Given the description of an element on the screen output the (x, y) to click on. 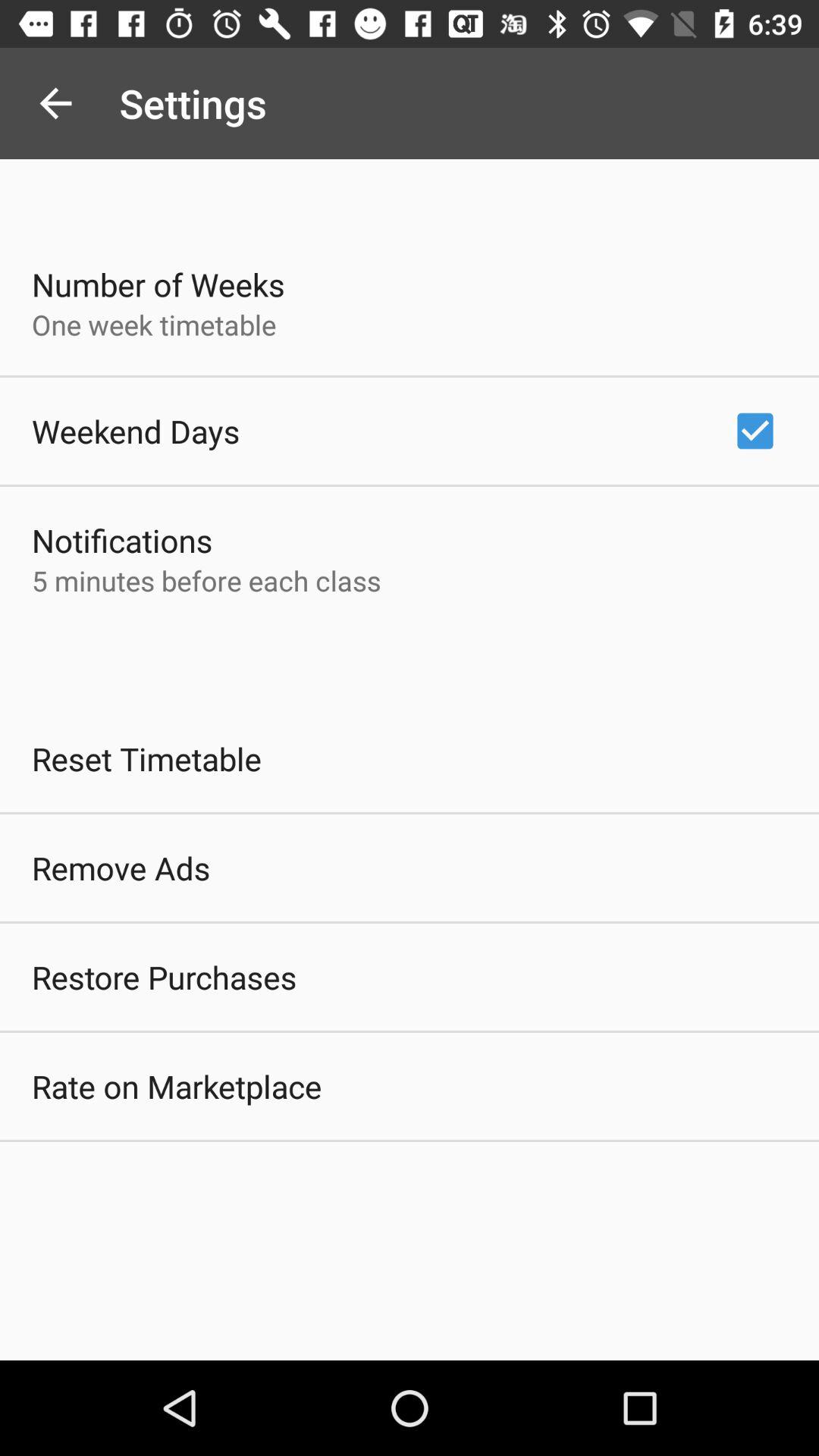
click item above the rate on marketplace app (163, 976)
